Given the description of an element on the screen output the (x, y) to click on. 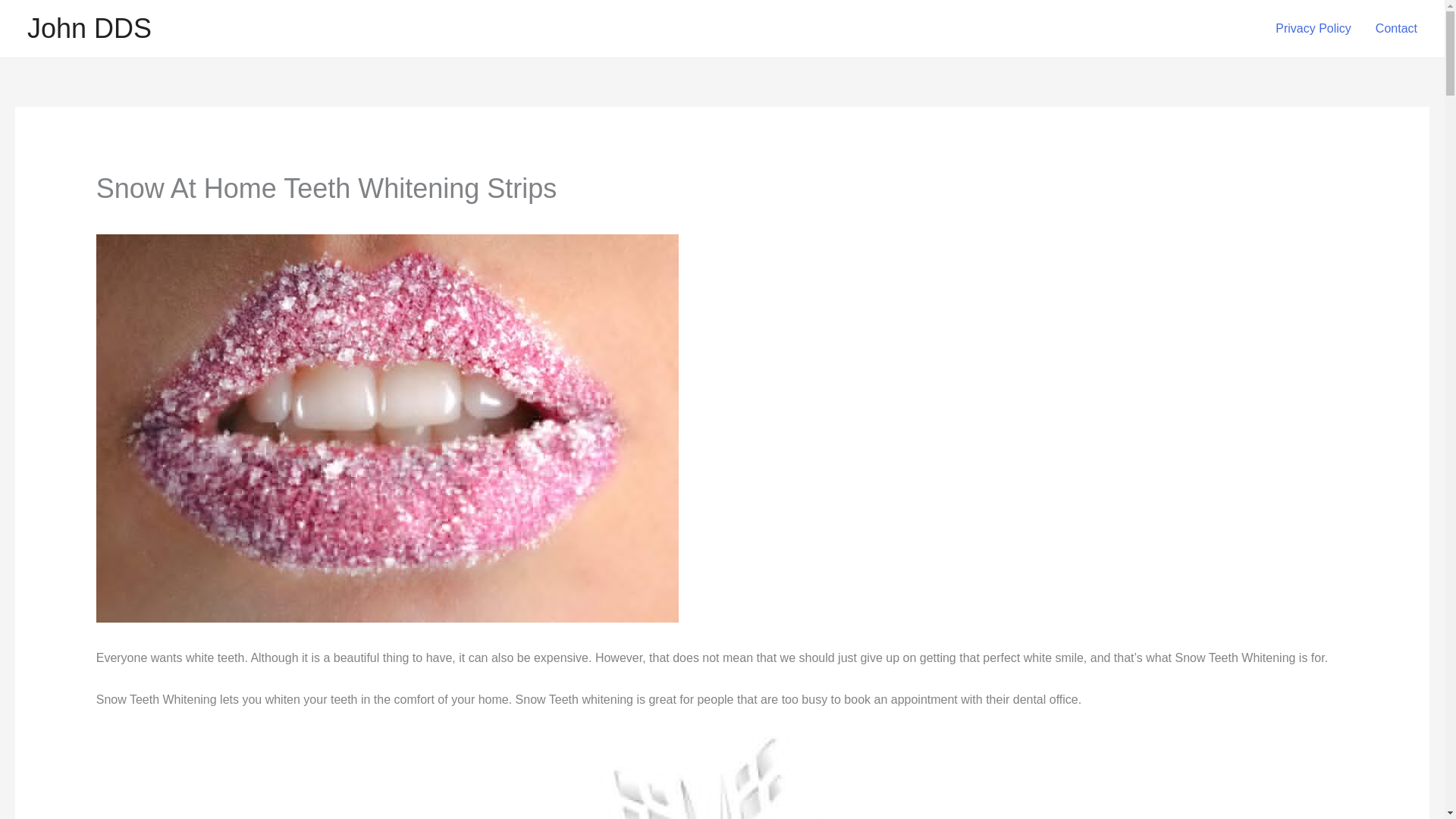
Contact (1395, 28)
Privacy Policy (1312, 28)
John DDS (89, 28)
